Given the description of an element on the screen output the (x, y) to click on. 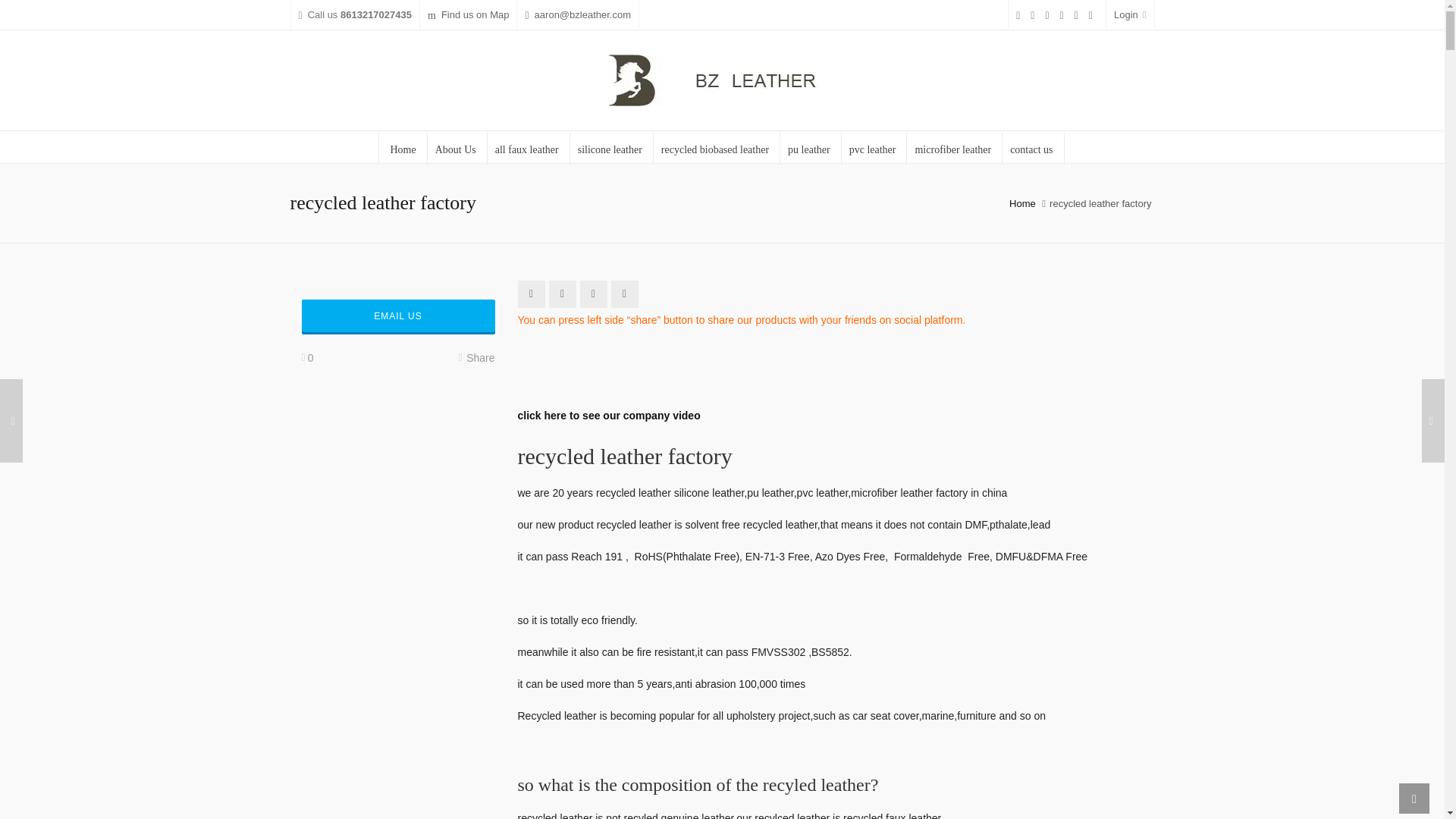
Home (402, 148)
Login (1130, 15)
recycled biobased leather (715, 148)
About Us (456, 148)
all faux leather (527, 148)
silicone leather (610, 148)
Find us on Map (468, 15)
